Given the description of an element on the screen output the (x, y) to click on. 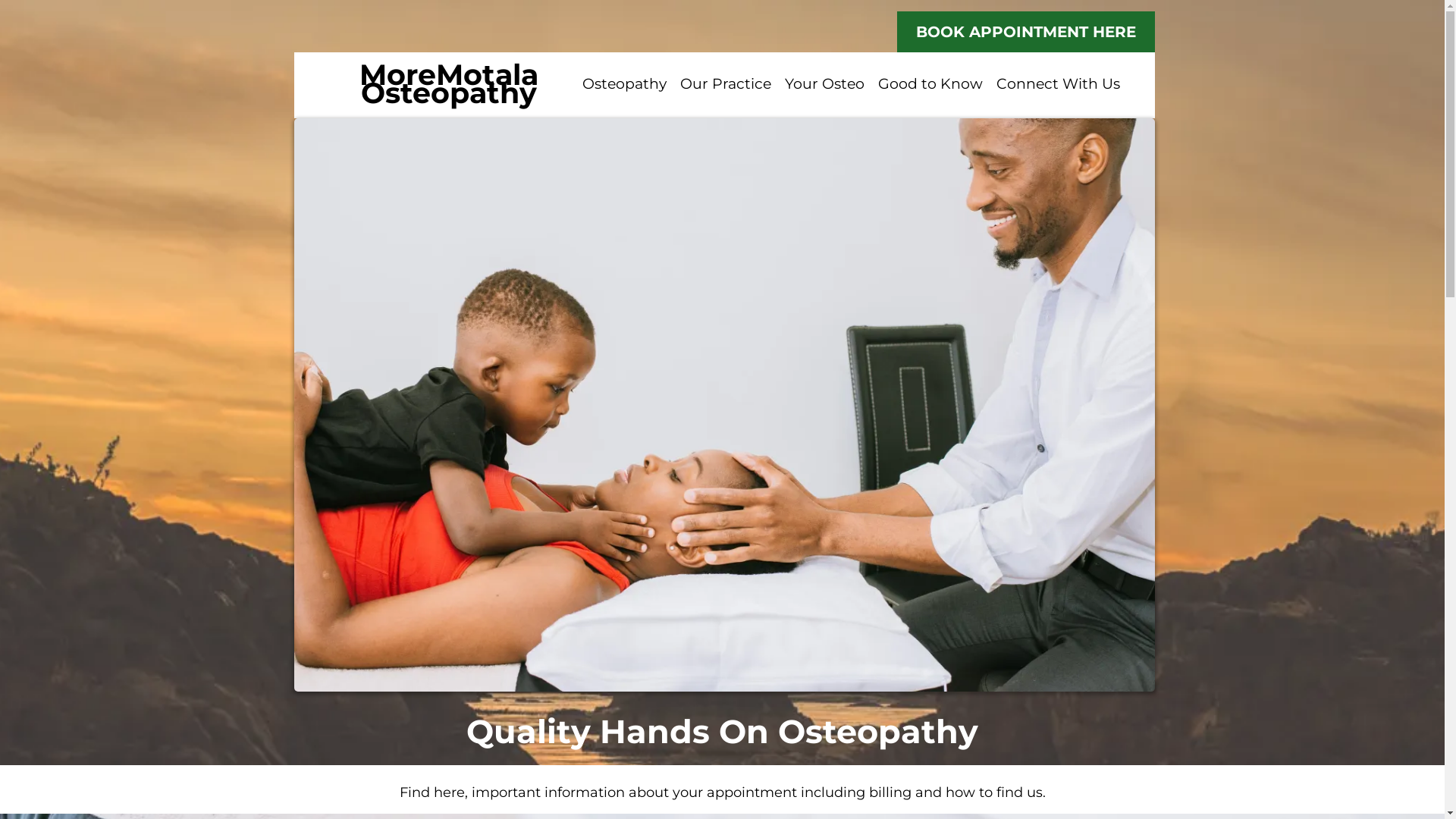
Osteopathy Element type: text (623, 84)
BOOK APPOINTMENT HERE Element type: text (1025, 31)
Your Osteo Element type: text (824, 84)
Good to Know Element type: text (929, 84)
Our Practice Element type: text (725, 84)
Connect With Us Element type: text (1057, 84)
